Given the description of an element on the screen output the (x, y) to click on. 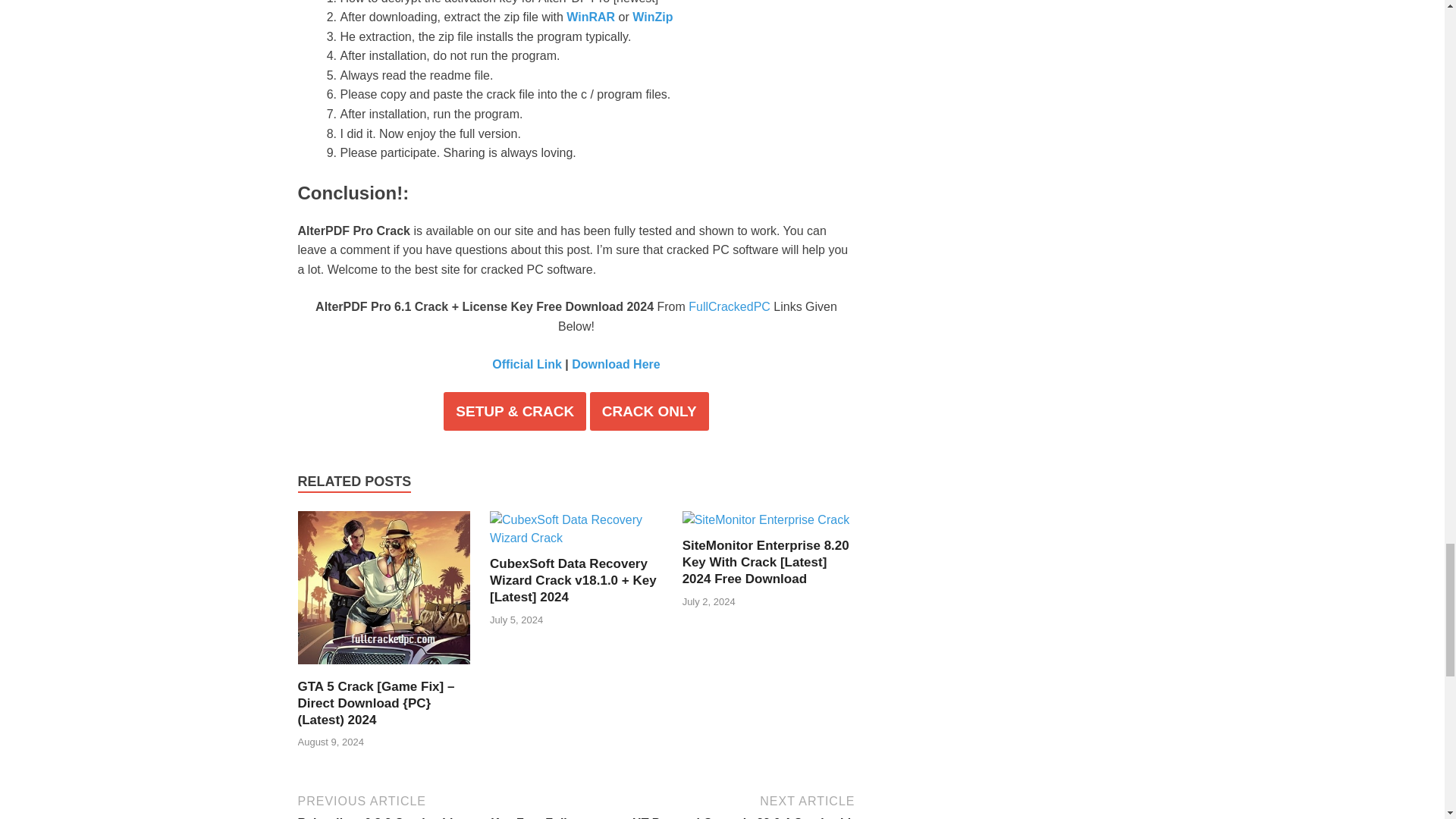
WinZip (651, 16)
FullCrackedPC (729, 306)
WinRAR (590, 16)
CRACK ONLY (649, 411)
Official Link (527, 364)
Download Here (615, 364)
